Given the description of an element on the screen output the (x, y) to click on. 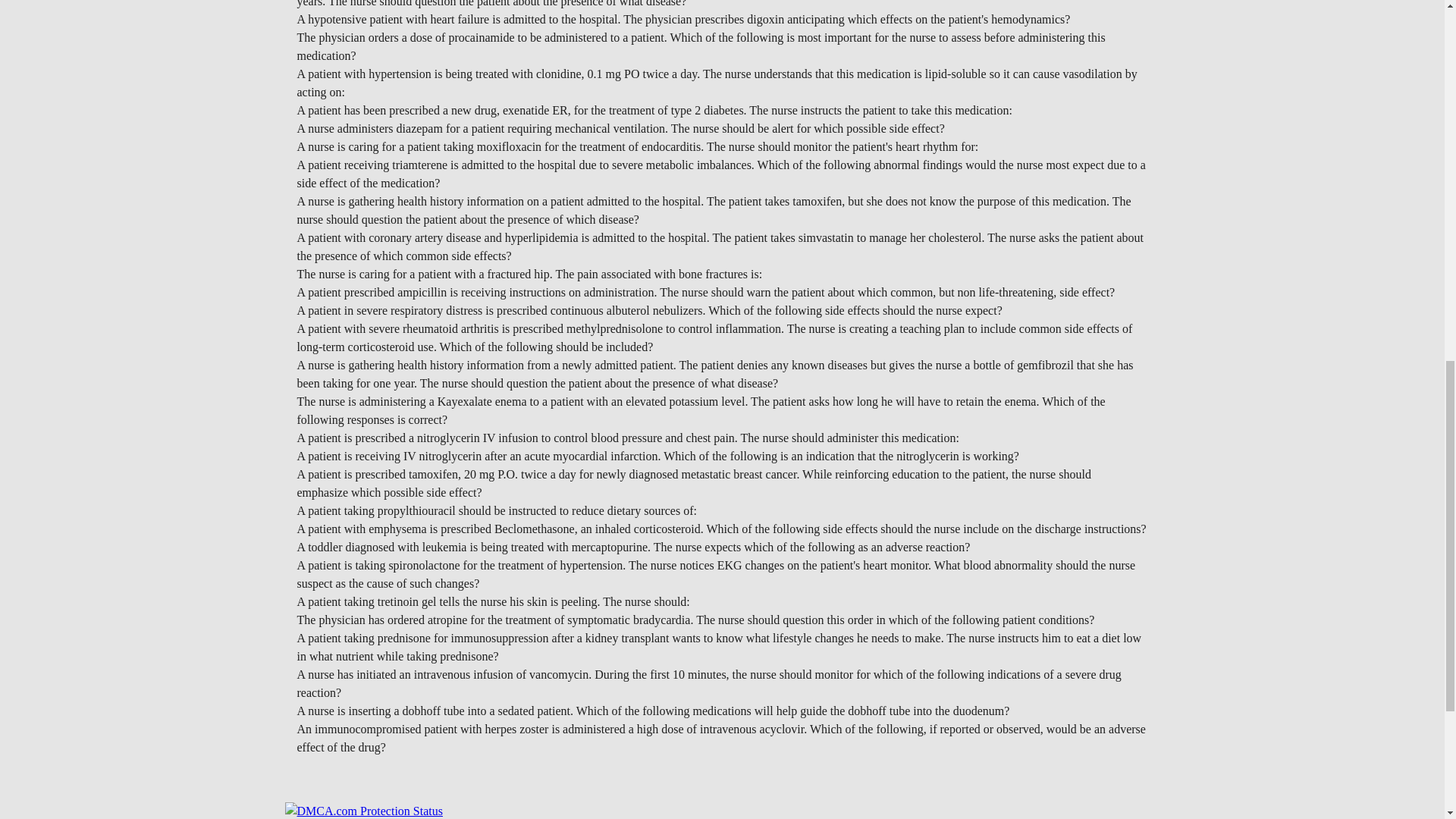
DMCA.com Protection Status (363, 810)
